Given the description of an element on the screen output the (x, y) to click on. 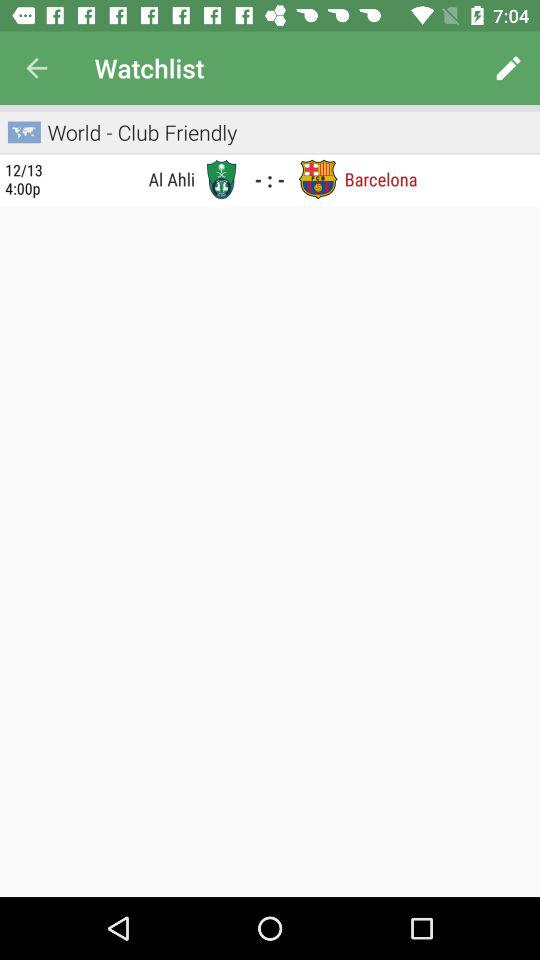
tap the item to the left of the watchlist (36, 68)
